Given the description of an element on the screen output the (x, y) to click on. 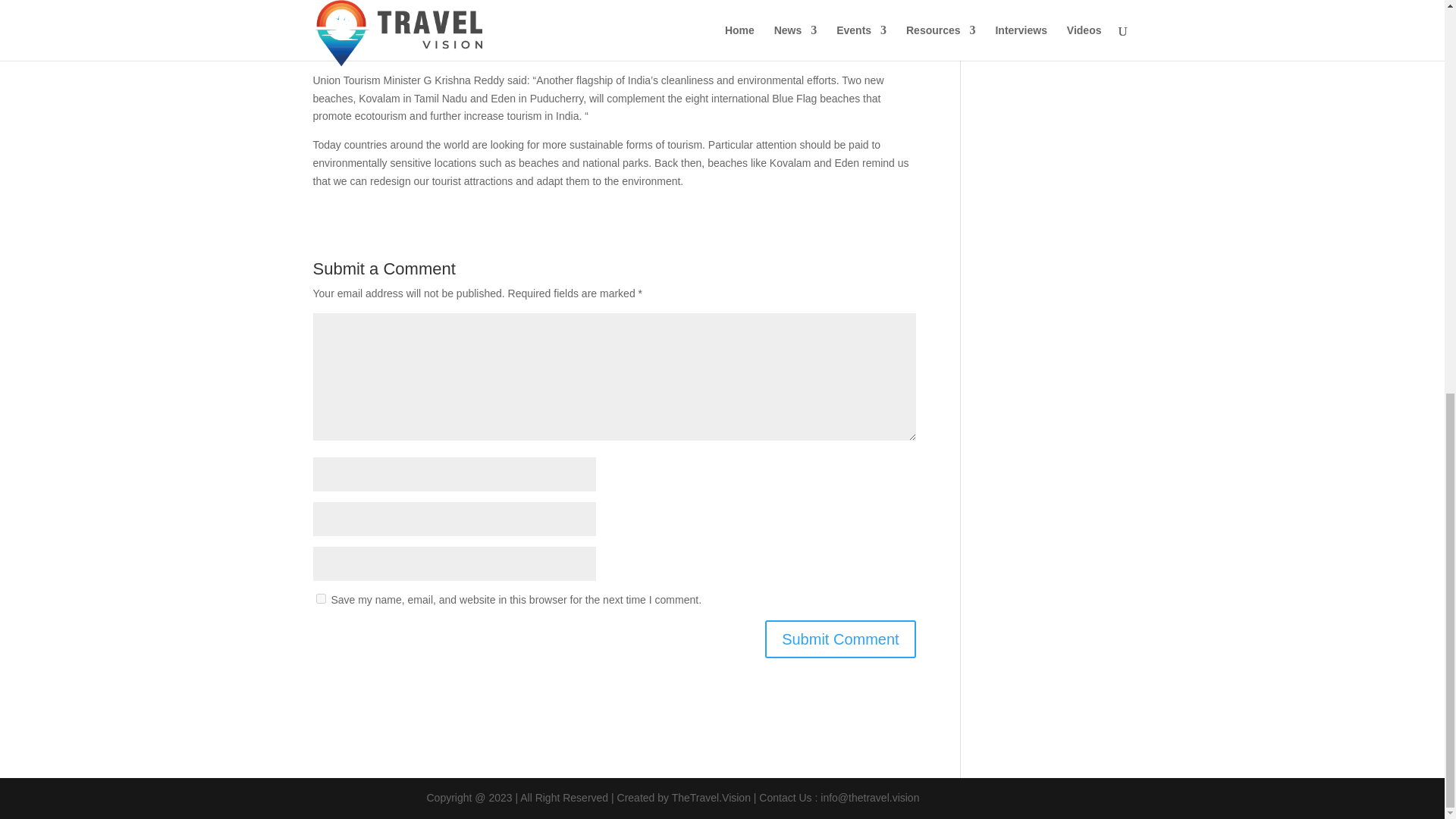
Submit Comment (840, 638)
yes (319, 598)
Submit Comment (840, 638)
